Given the description of an element on the screen output the (x, y) to click on. 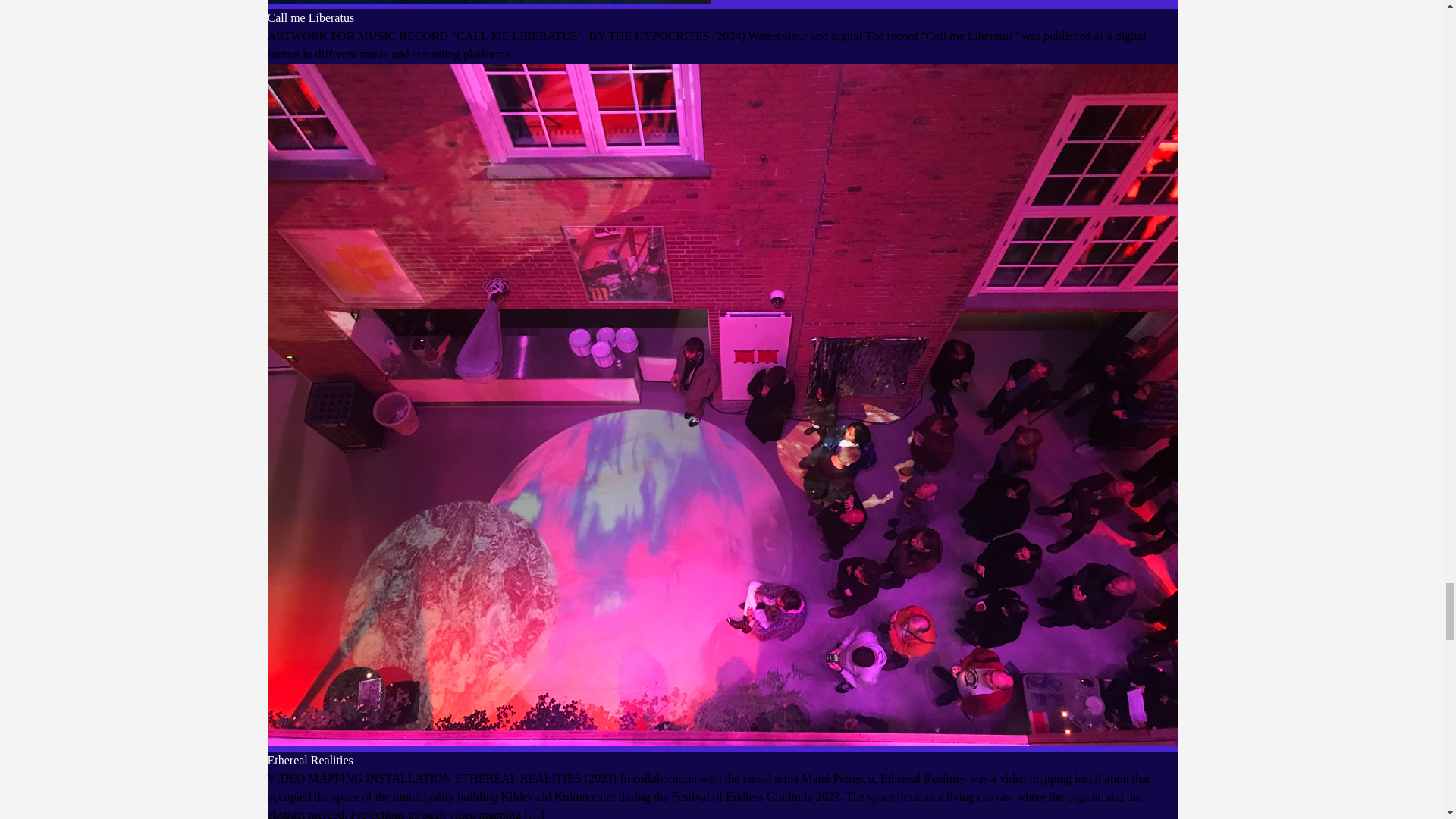
Ethereal Realities (309, 759)
Call me Liberatus (309, 17)
Call me Liberatus (309, 17)
Ethereal Realities (309, 759)
